Given the description of an element on the screen output the (x, y) to click on. 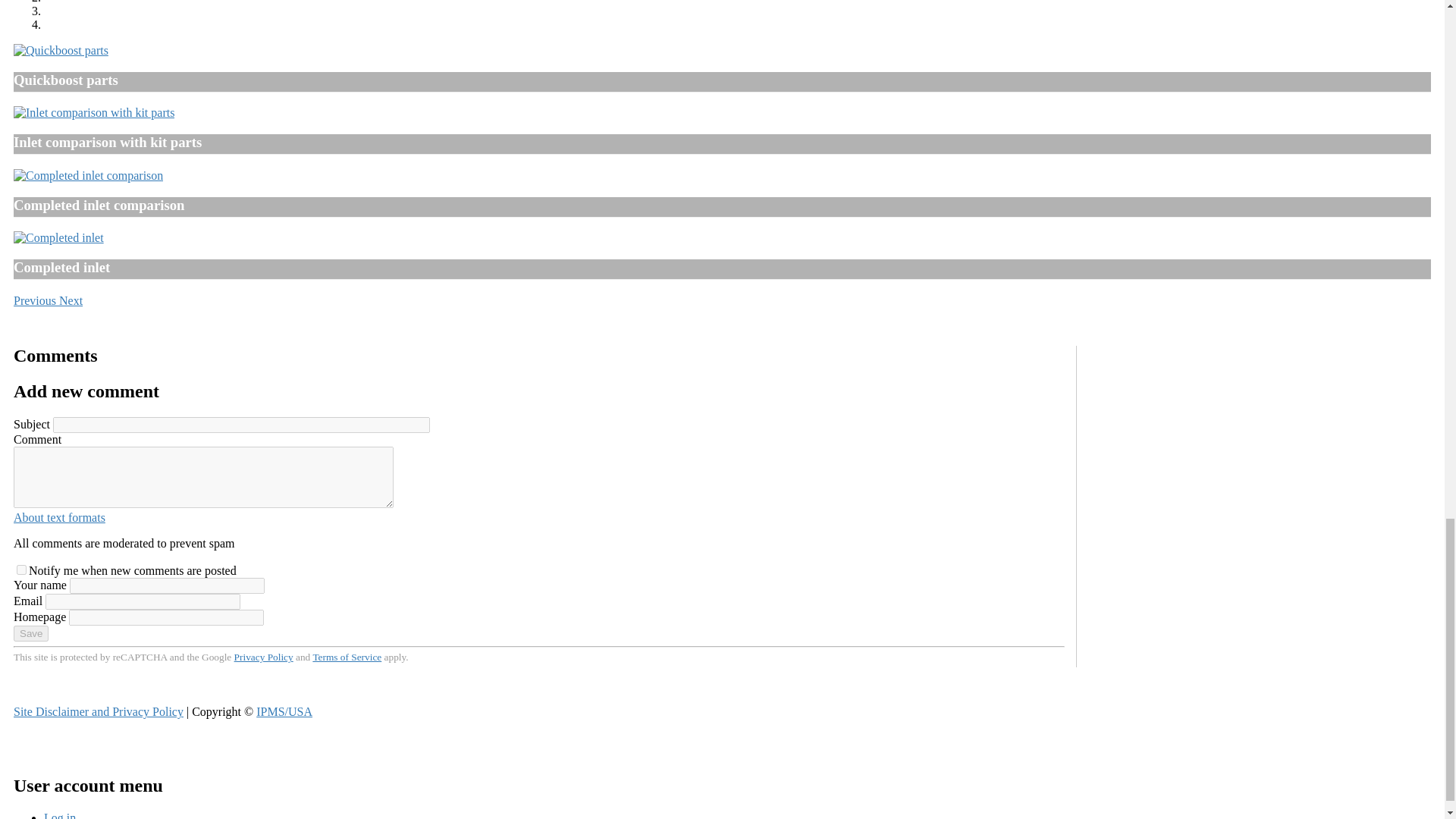
Quickboost parts (60, 50)
1 (21, 569)
Quickboost parts (60, 50)
